Given the description of an element on the screen output the (x, y) to click on. 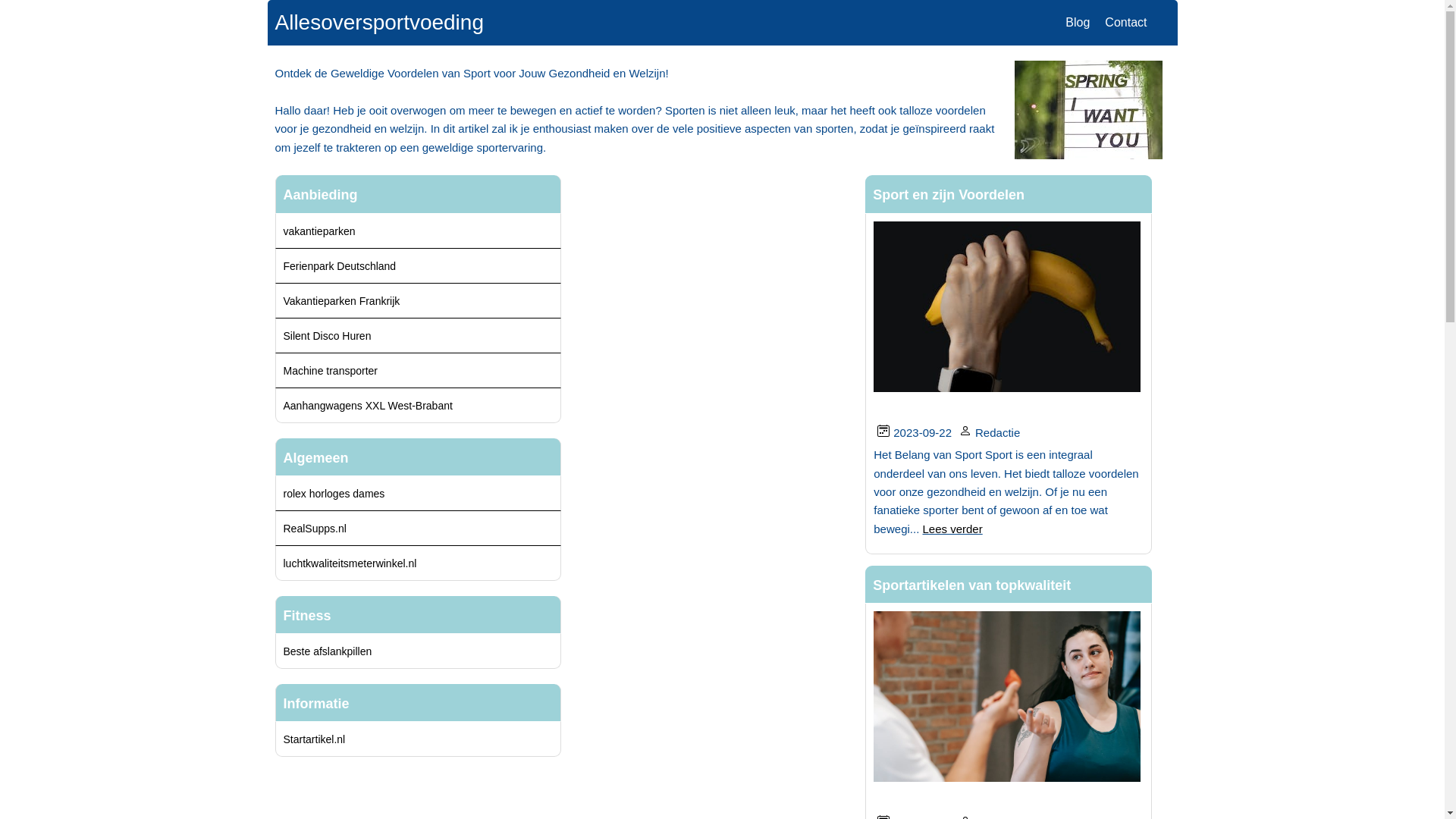
Ferienpark Deutschland Element type: text (339, 265)
Aanhangwagens XXL West-Brabant Element type: text (367, 404)
Vakantieparken Frankrijk Element type: text (341, 300)
luchtkwaliteitsmeterwinkel.nl Element type: text (350, 563)
Contact Element type: text (1125, 22)
Sportartikelen van topkwaliteit Element type: text (971, 585)
Lees verder Element type: text (952, 528)
vakantieparken Element type: text (319, 230)
Allesoversportvoeding Element type: text (378, 22)
Beste afslankpillen Element type: text (327, 651)
rolex horloges dames Element type: text (334, 493)
Sport en zijn Voordelen Element type: text (948, 194)
RealSupps.nl Element type: text (314, 528)
Blog Element type: text (1077, 22)
Startartikel.nl Element type: text (314, 739)
Silent Disco Huren Element type: text (327, 335)
Machine transporter Element type: text (330, 370)
